Given the description of an element on the screen output the (x, y) to click on. 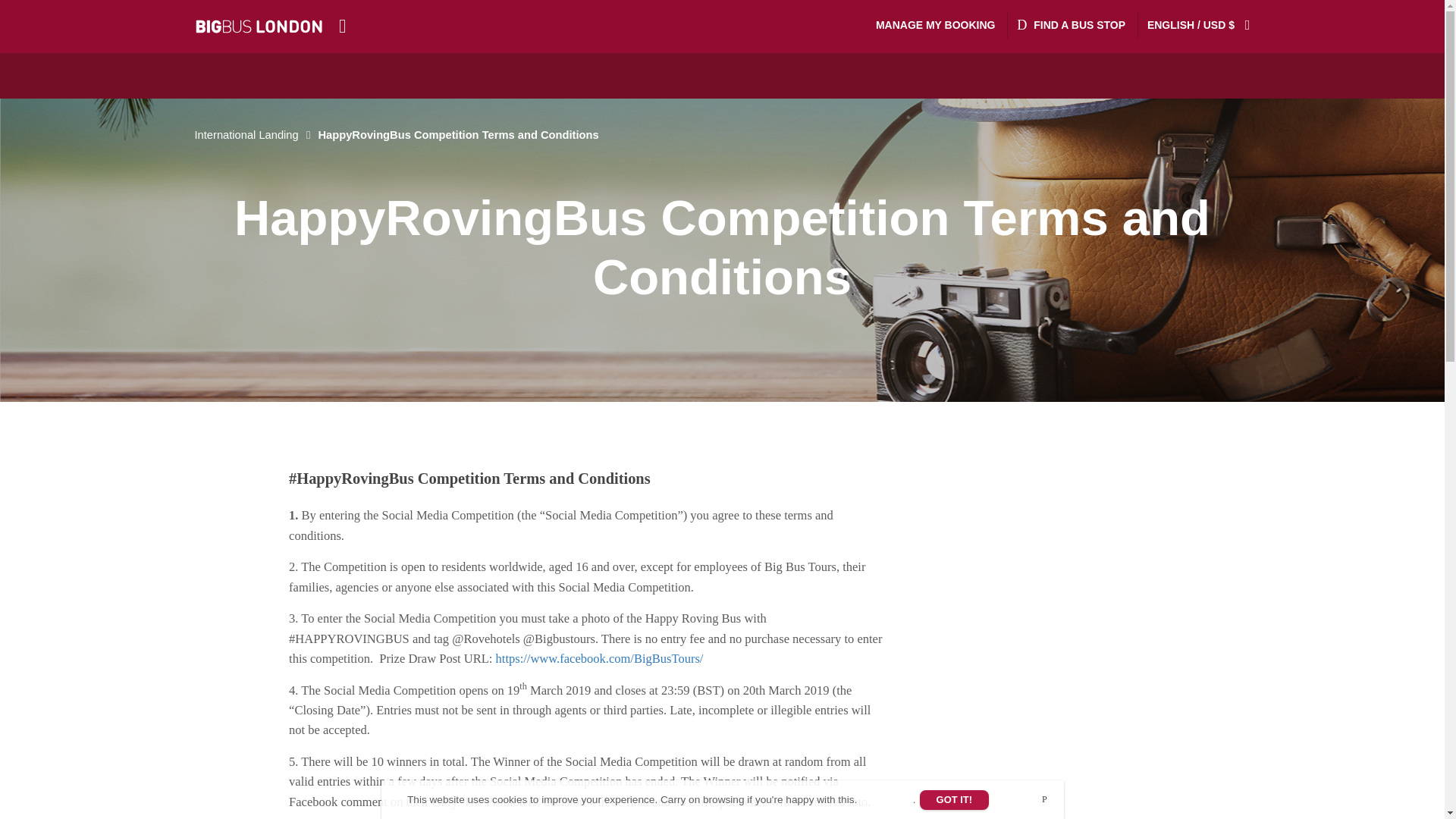
Go back to the homepage (253, 134)
FIND A BUS STOP (1070, 25)
International Landing    (253, 134)
GOT IT! (955, 799)
Got It! (955, 799)
Learn more (886, 799)
MANAGE MY BOOKING (935, 25)
